Given the description of an element on the screen output the (x, y) to click on. 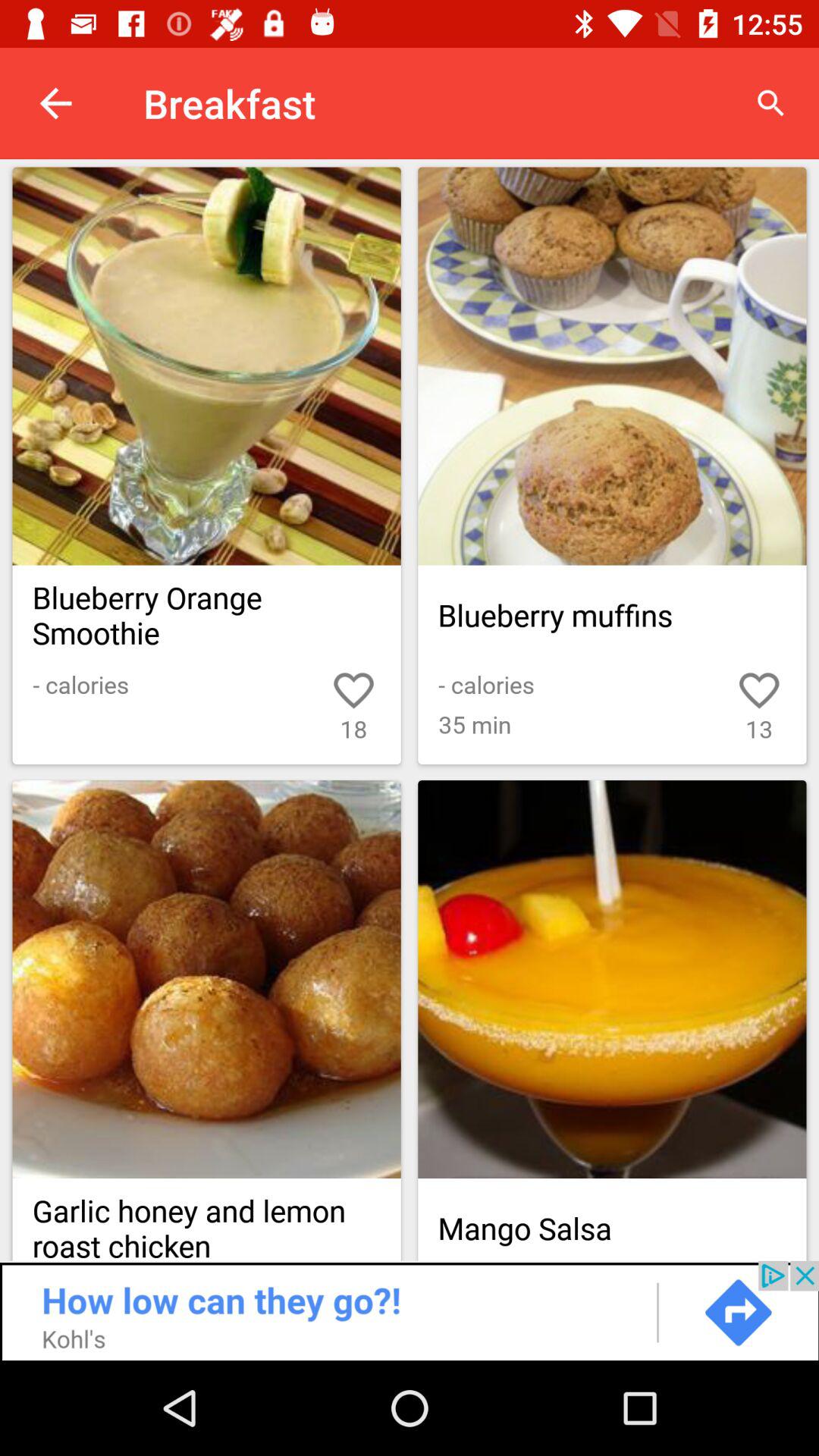
shows recipes with blueberries (409, 417)
